Given the description of an element on the screen output the (x, y) to click on. 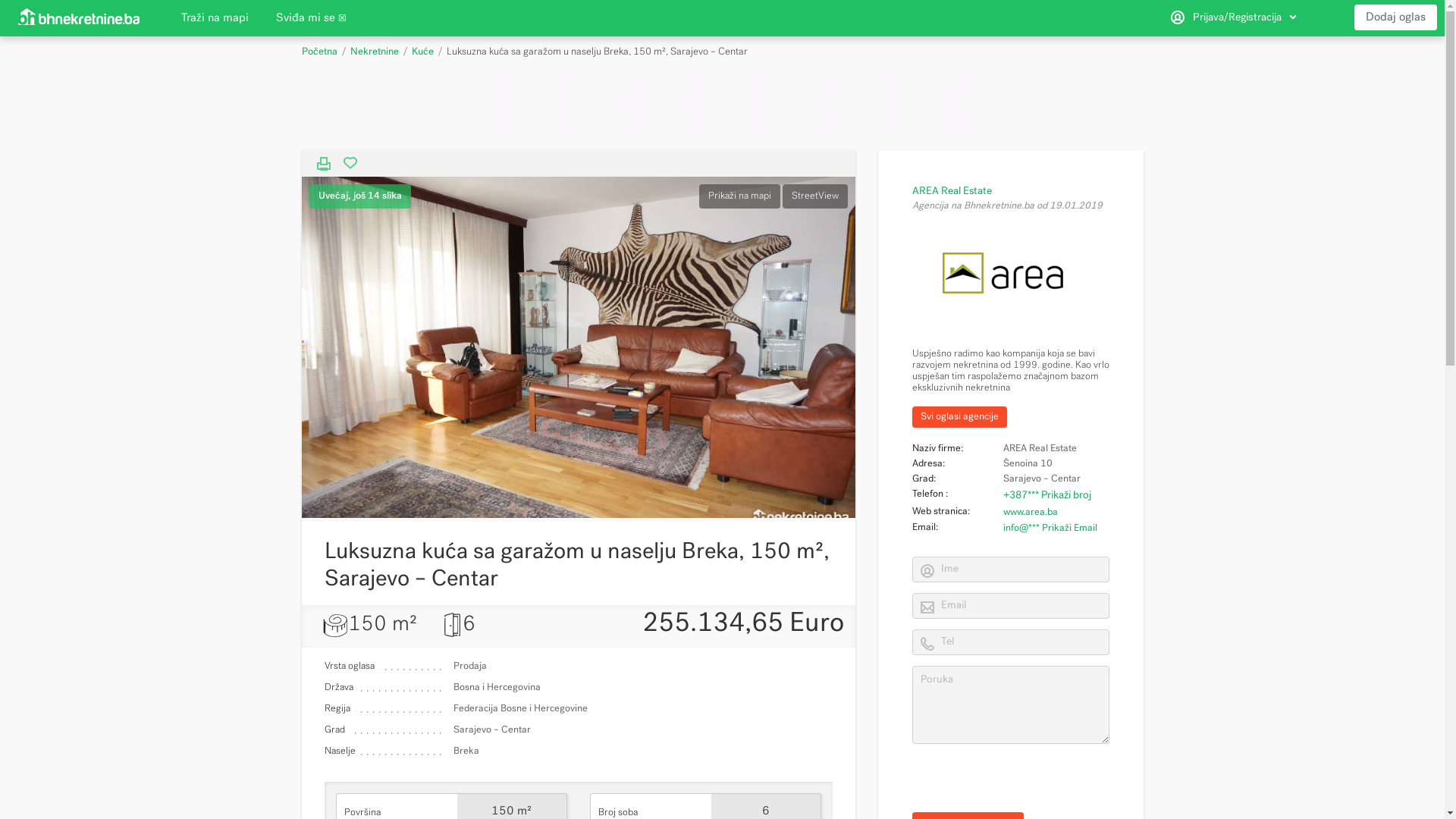
Bhnekretnine.ba, bh. oglasnik za nekretnine Element type: hover (79, 17)
Dodaj oglas Element type: text (1395, 17)
Nekretnine Element type: text (374, 50)
Isprintaj Element type: hover (323, 163)
Posjeti profil agencije Element type: hover (1002, 270)
3rd party ad content Element type: hover (721, 100)
www.area.ba Element type: text (1029, 511)
AREA Real Estate Element type: text (951, 191)
Svi oglasi agencije Element type: text (958, 416)
